Given the description of an element on the screen output the (x, y) to click on. 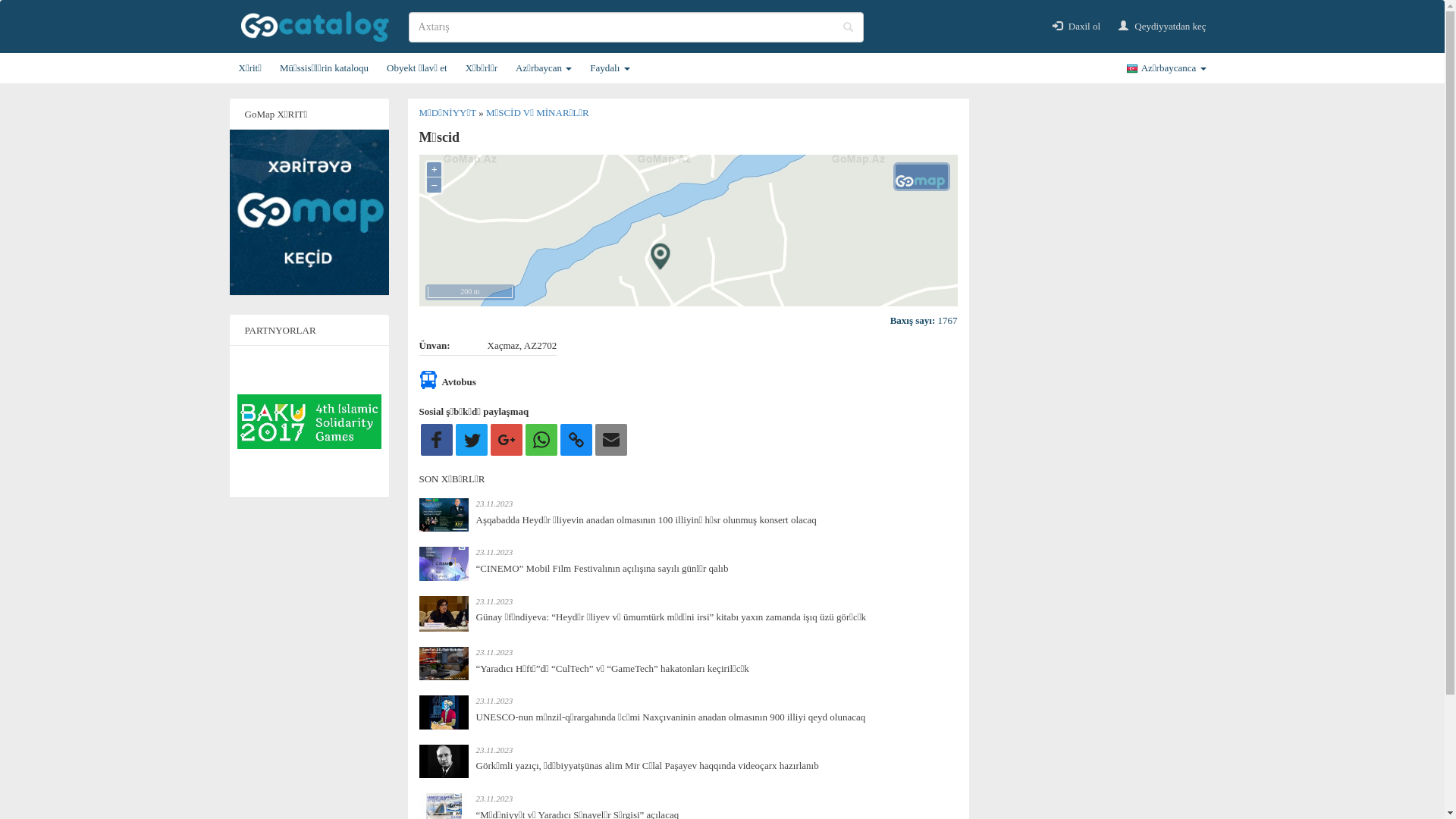
Copy to Clipboard Element type: hover (575, 439)
Daxil ol Element type: text (1076, 26)
